Given the description of an element on the screen output the (x, y) to click on. 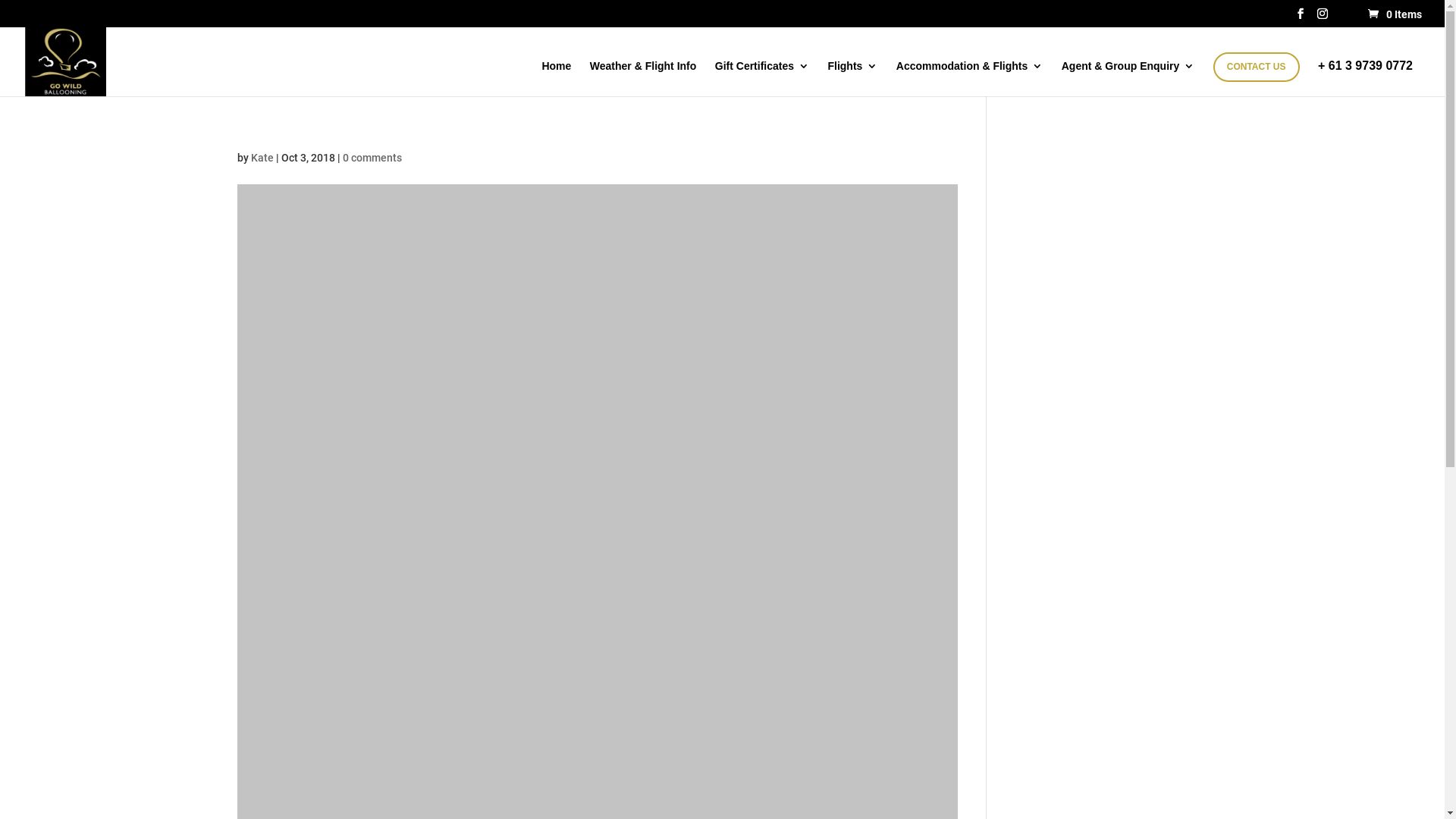
0 comments Element type: text (371, 157)
+ 61 3 9739 0772 Element type: text (1364, 77)
Flights Element type: text (852, 78)
Accommodation & Flights Element type: text (969, 78)
Home Element type: text (556, 78)
Kate Element type: text (261, 157)
Weather & Flight Info Element type: text (642, 78)
Gift Certificates Element type: text (762, 78)
CONTACT US Element type: text (1256, 66)
0 Items Element type: text (1393, 13)
Agent & Group Enquiry Element type: text (1128, 78)
